Given the description of an element on the screen output the (x, y) to click on. 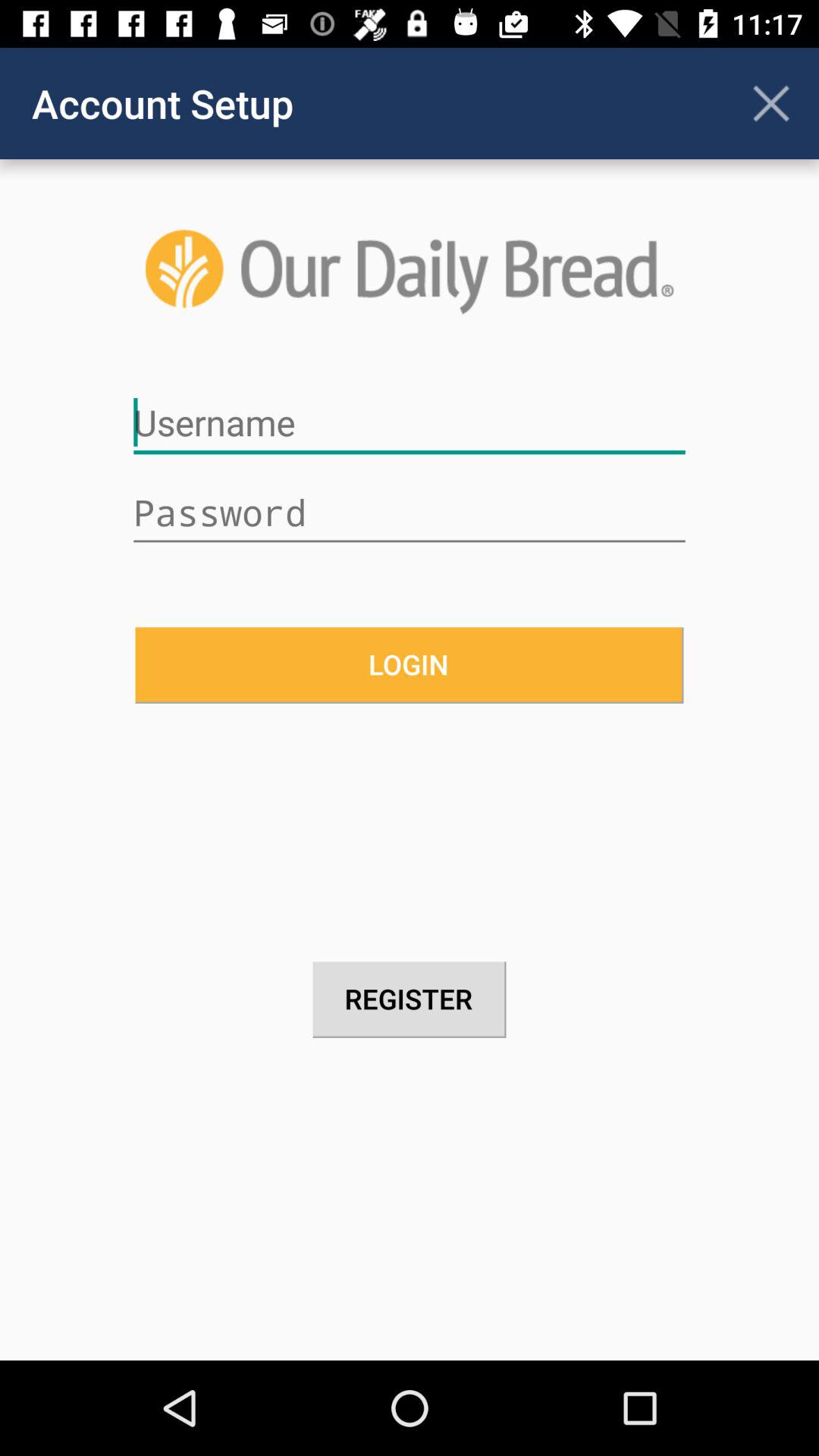
launch item at the top right corner (771, 103)
